Given the description of an element on the screen output the (x, y) to click on. 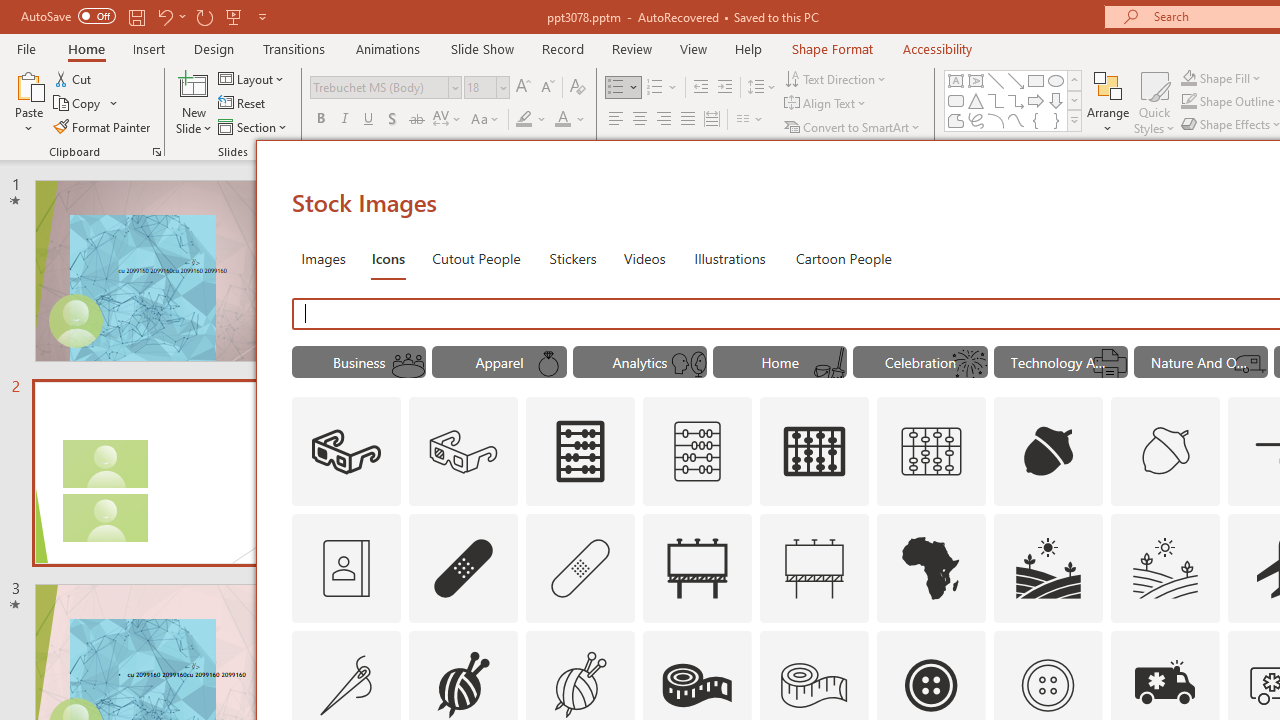
Increase Indent (725, 87)
AutomationID: Icons_Advertising (697, 568)
AutomationID: Icons_Ring_M (549, 364)
Align Text (826, 103)
AutomationID: Icons_Abacus1_M (931, 452)
Format Painter (103, 126)
Font Color Red (562, 119)
Line (995, 80)
Videos (644, 258)
Images (322, 258)
Vertical Text Box (975, 80)
AutomationID: Icons_Acorn (1048, 452)
